Given the description of an element on the screen output the (x, y) to click on. 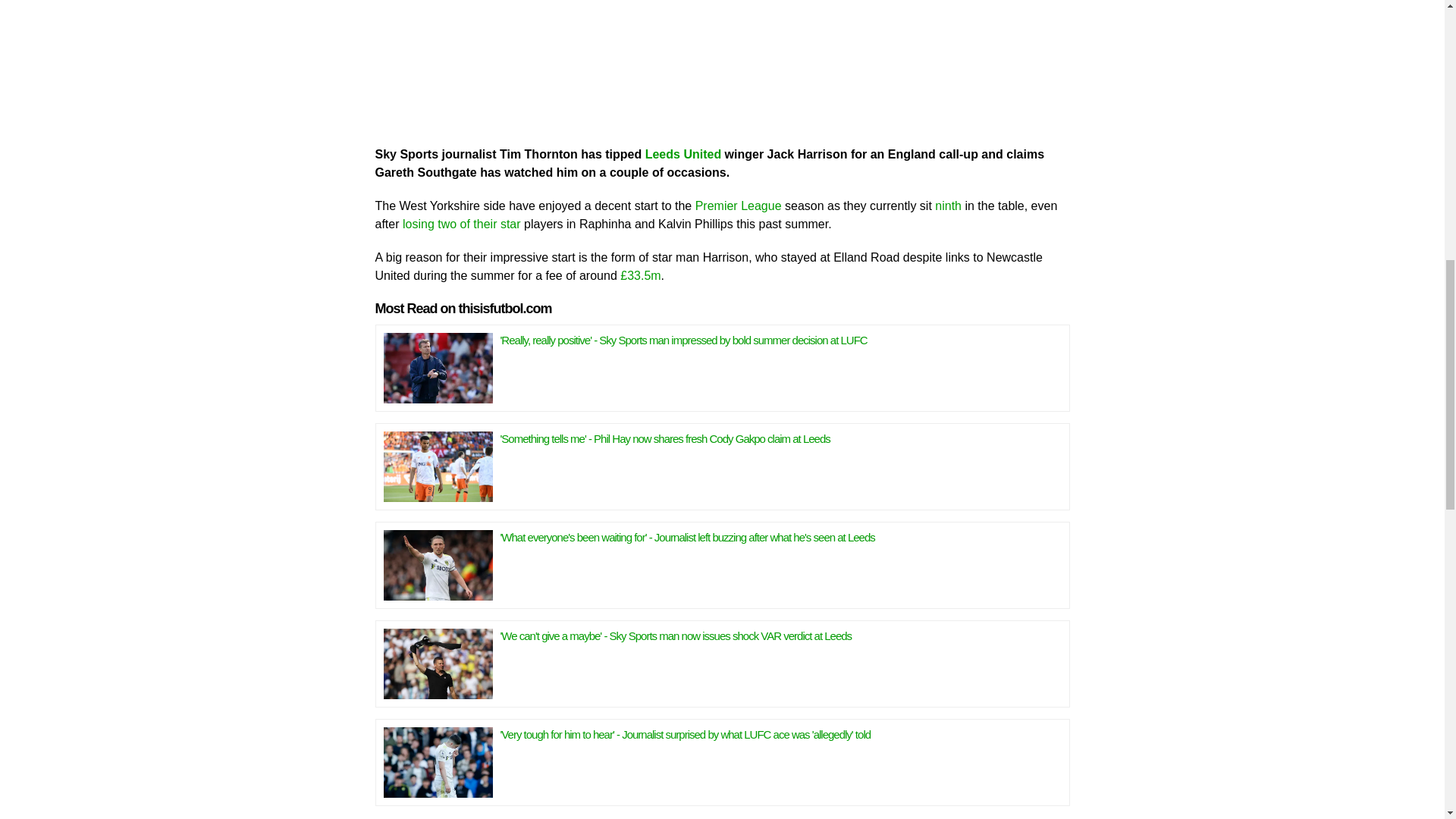
Premier League (738, 205)
ninth (947, 205)
losing two of their star (462, 223)
Leeds United (682, 153)
